Given the description of an element on the screen output the (x, y) to click on. 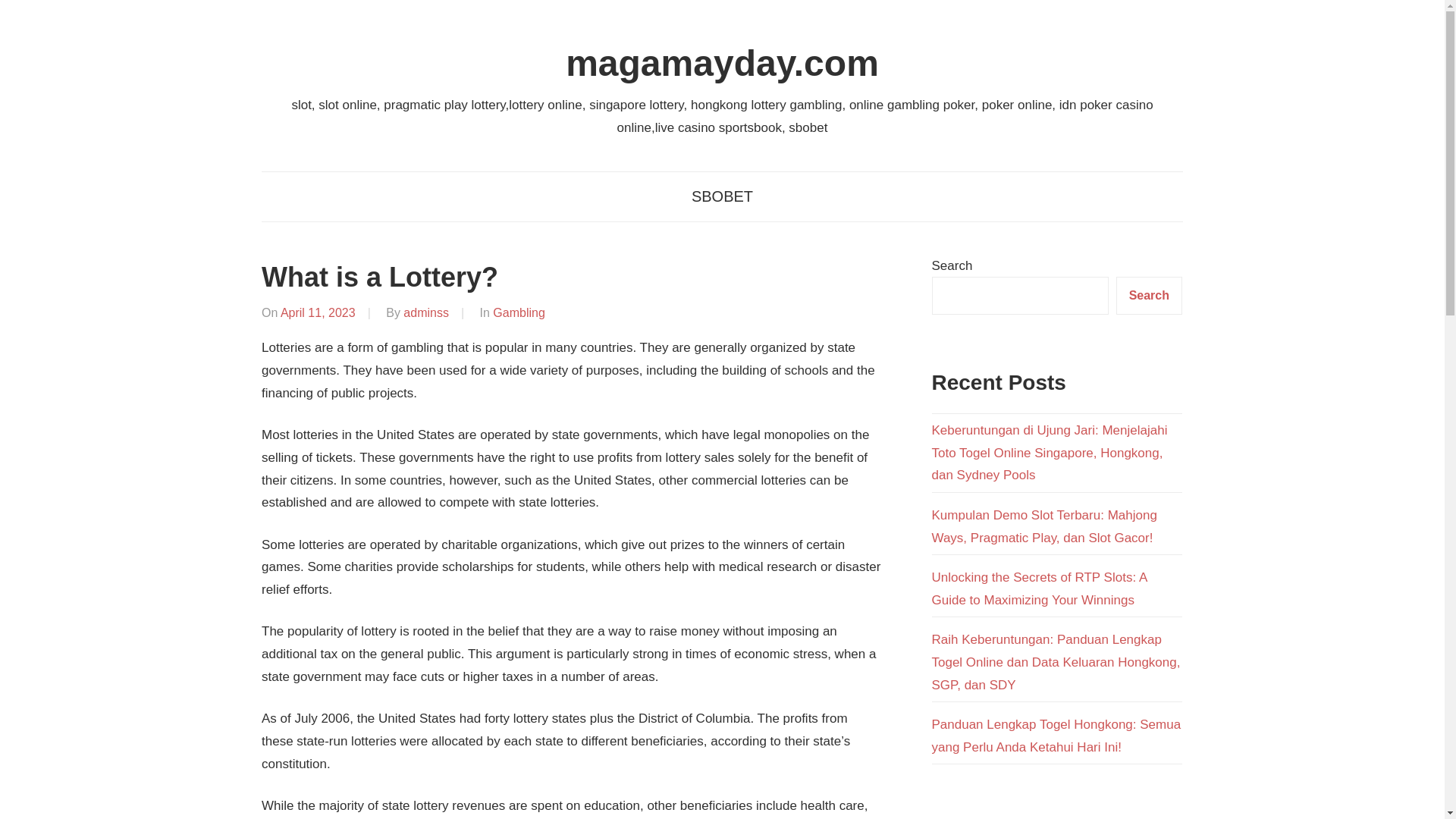
Search (1149, 294)
adminss (425, 312)
magamayday.com (722, 63)
View all posts by adminss (425, 312)
Gambling (518, 312)
SBOBET (722, 196)
